Given the description of an element on the screen output the (x, y) to click on. 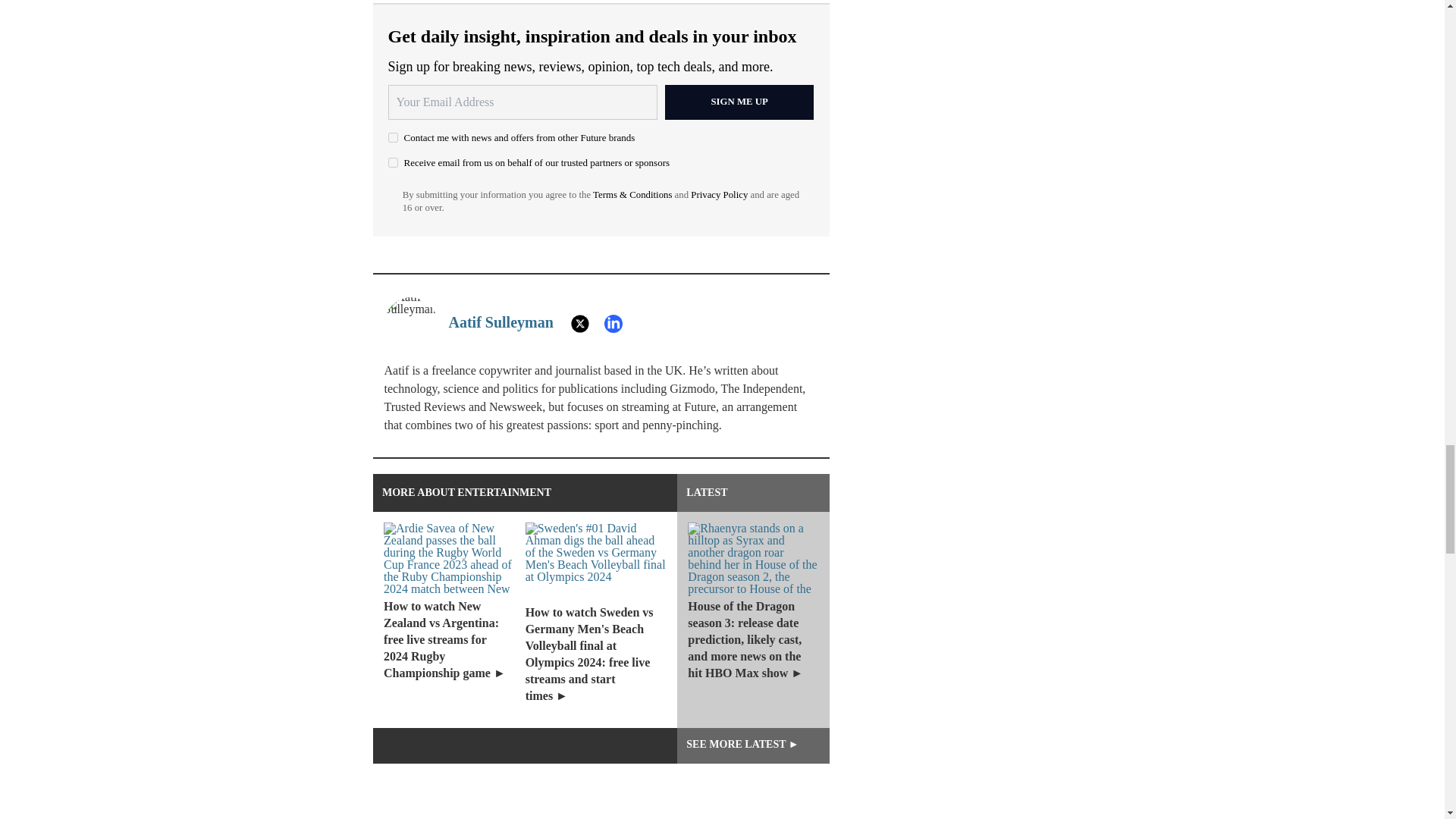
Sign me up (739, 102)
on (392, 162)
on (392, 137)
